Given the description of an element on the screen output the (x, y) to click on. 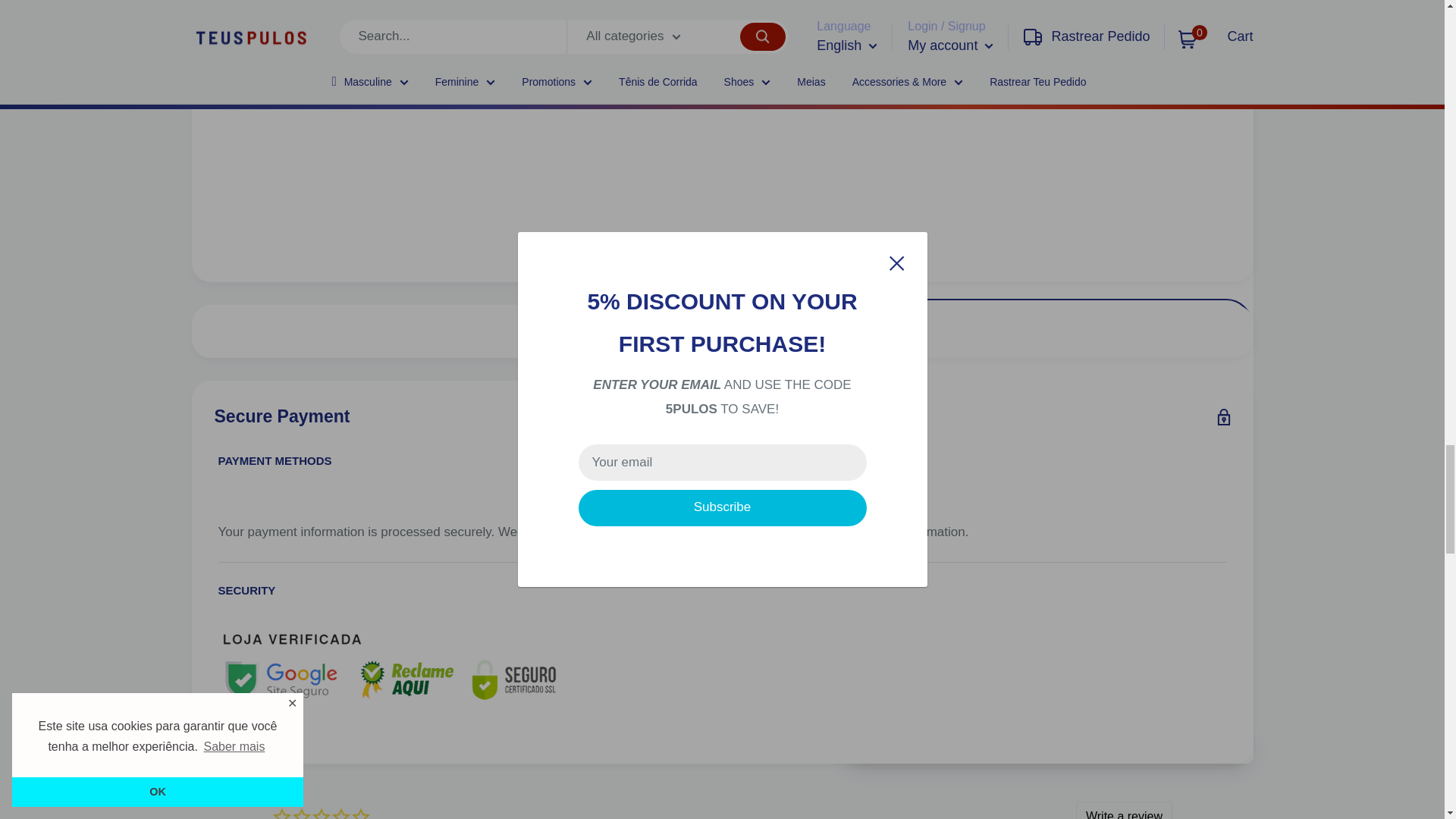
Product reviews widget (721, 802)
